Given the description of an element on the screen output the (x, y) to click on. 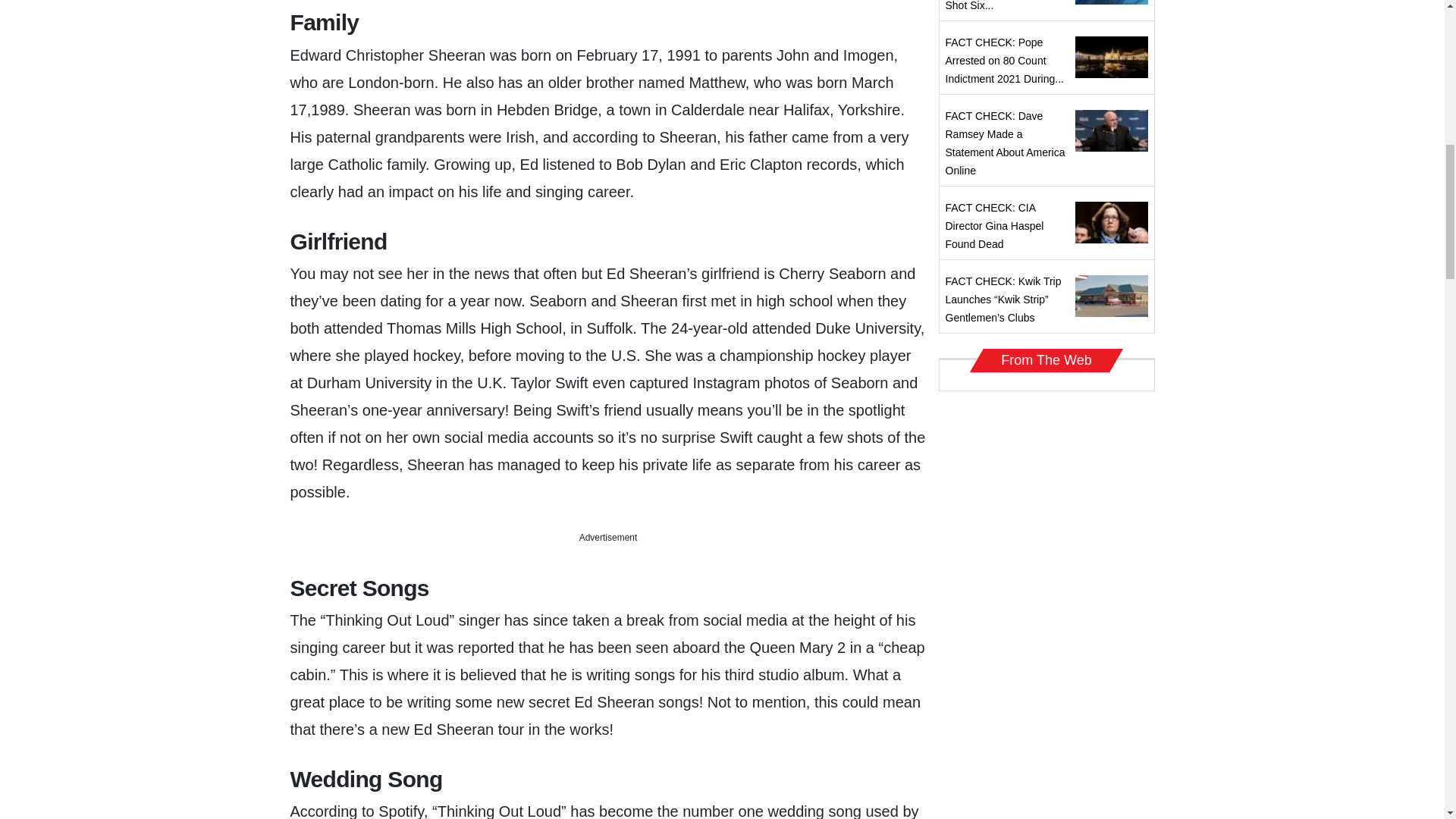
FACT CHECK: Alleged King Von Killer, Lul Tim Shot Six... (998, 5)
FACT CHECK: CIA Director Gina Haspel Found Dead (993, 225)
